Given the description of an element on the screen output the (x, y) to click on. 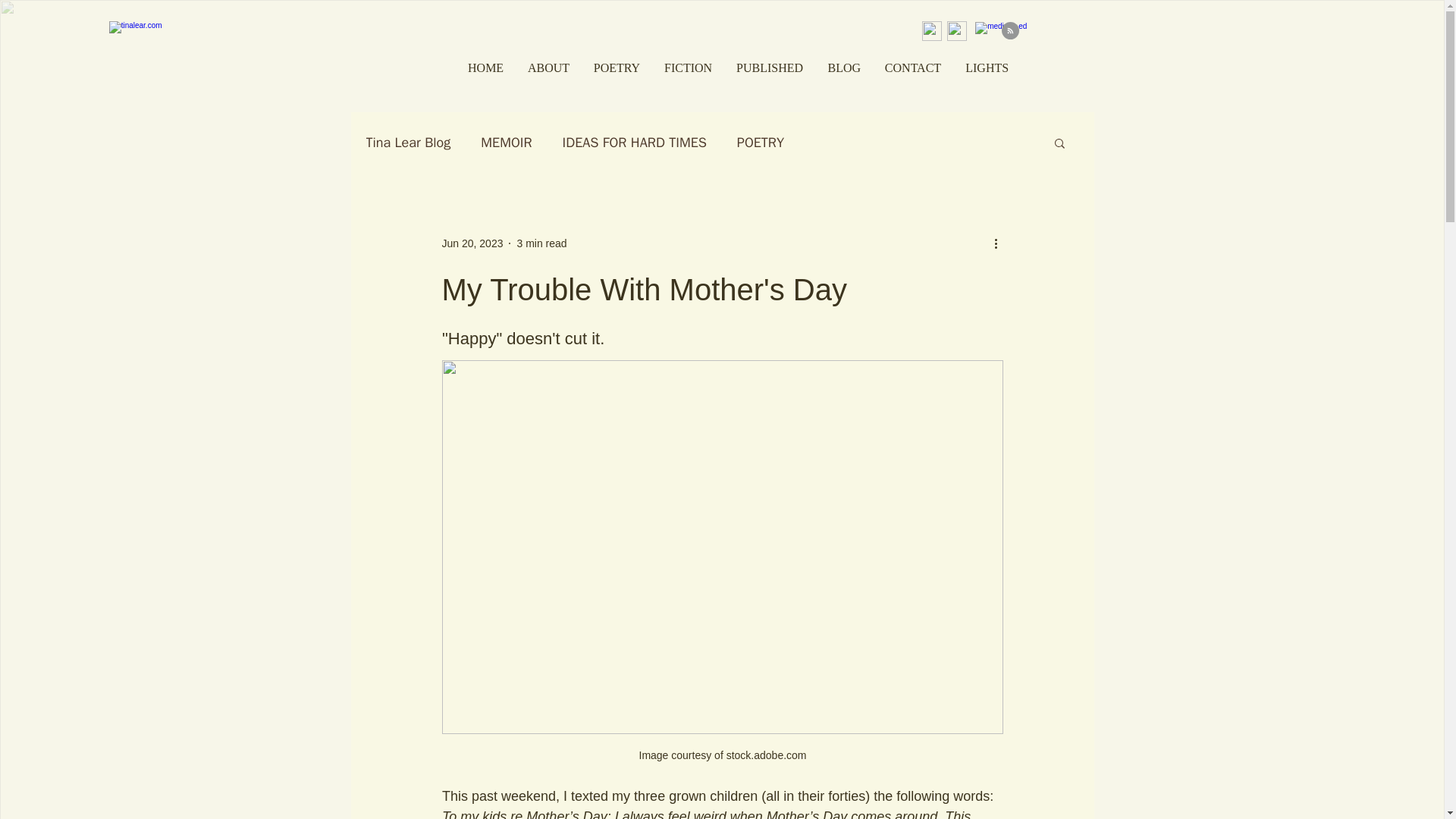
3 min read (541, 242)
Tina Lear Blog (407, 142)
POETRY (615, 67)
IDEAS FOR HARD TIMES (634, 142)
PUBLISHED (768, 67)
LIGHTS (986, 67)
BLOG (842, 67)
POETRY (760, 142)
ABOUT (547, 67)
MEMOIR (505, 142)
CONTACT (912, 67)
HOME (484, 67)
Jun 20, 2023 (471, 242)
FICTION (686, 67)
